Given the description of an element on the screen output the (x, y) to click on. 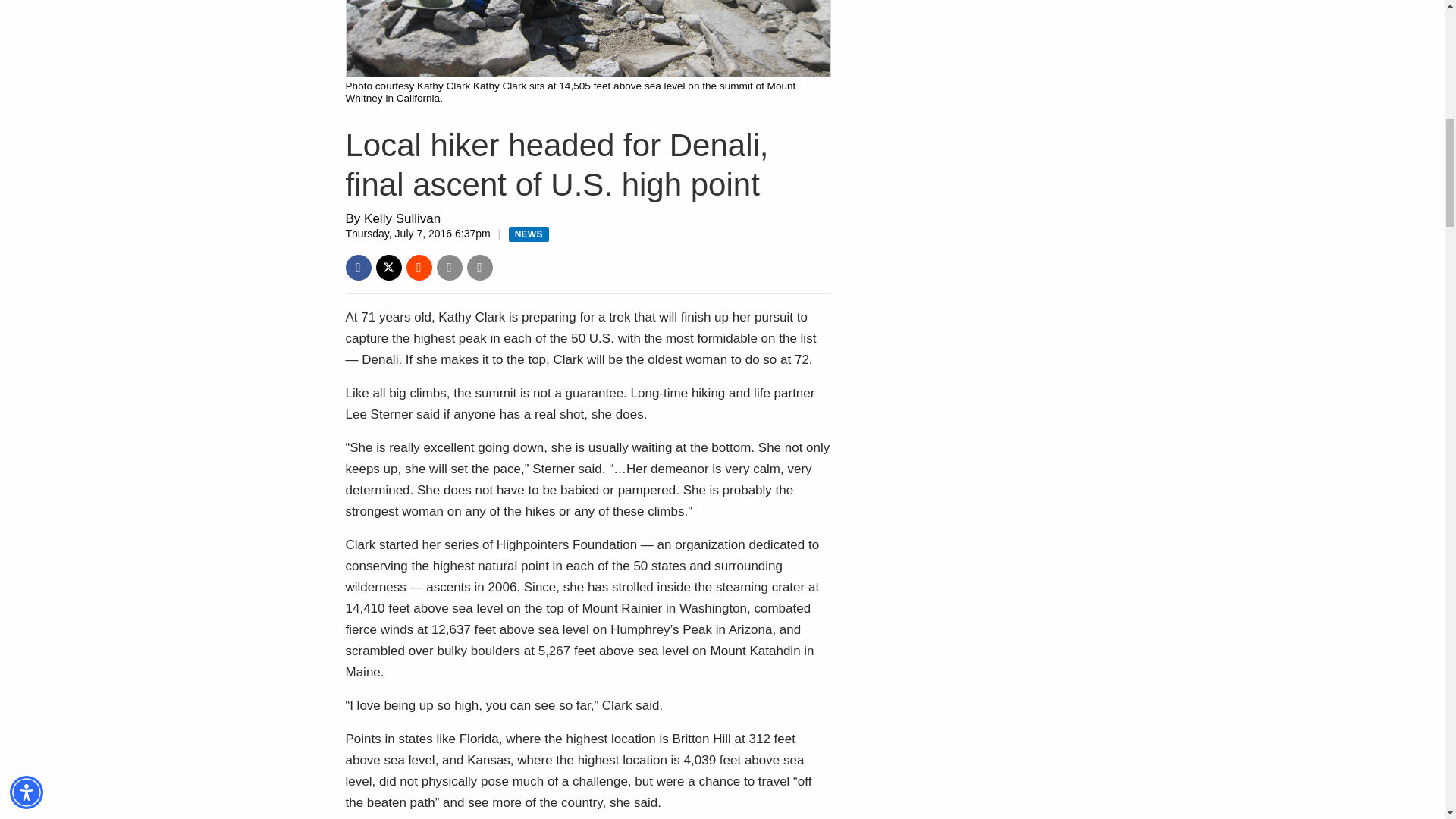
Post to Twitter (388, 267)
Print story (480, 267)
Email story (449, 267)
Post to Facebook (358, 267)
Post to Reddit (419, 267)
